Given the description of an element on the screen output the (x, y) to click on. 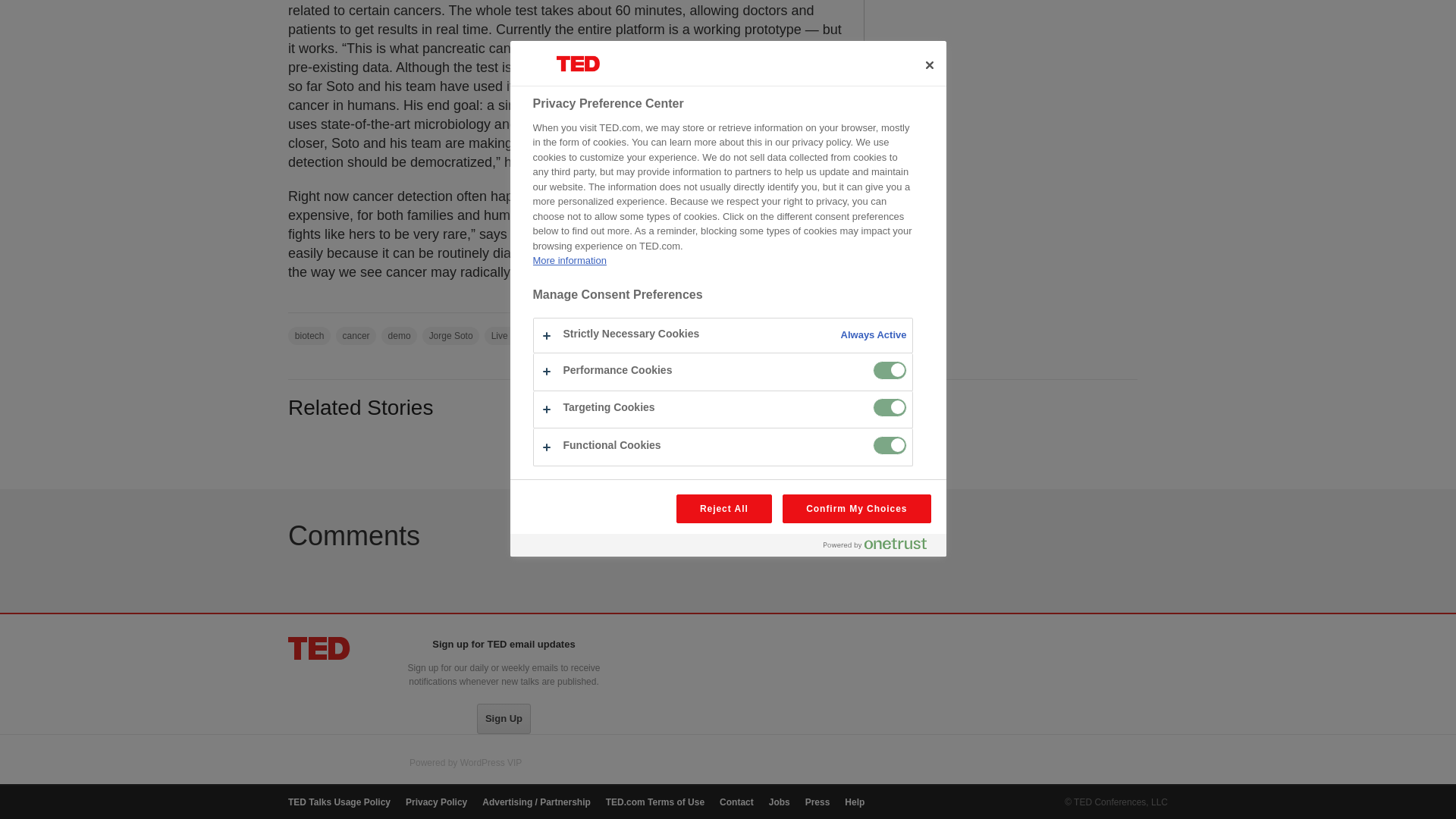
Sign Up (504, 718)
